Given the description of an element on the screen output the (x, y) to click on. 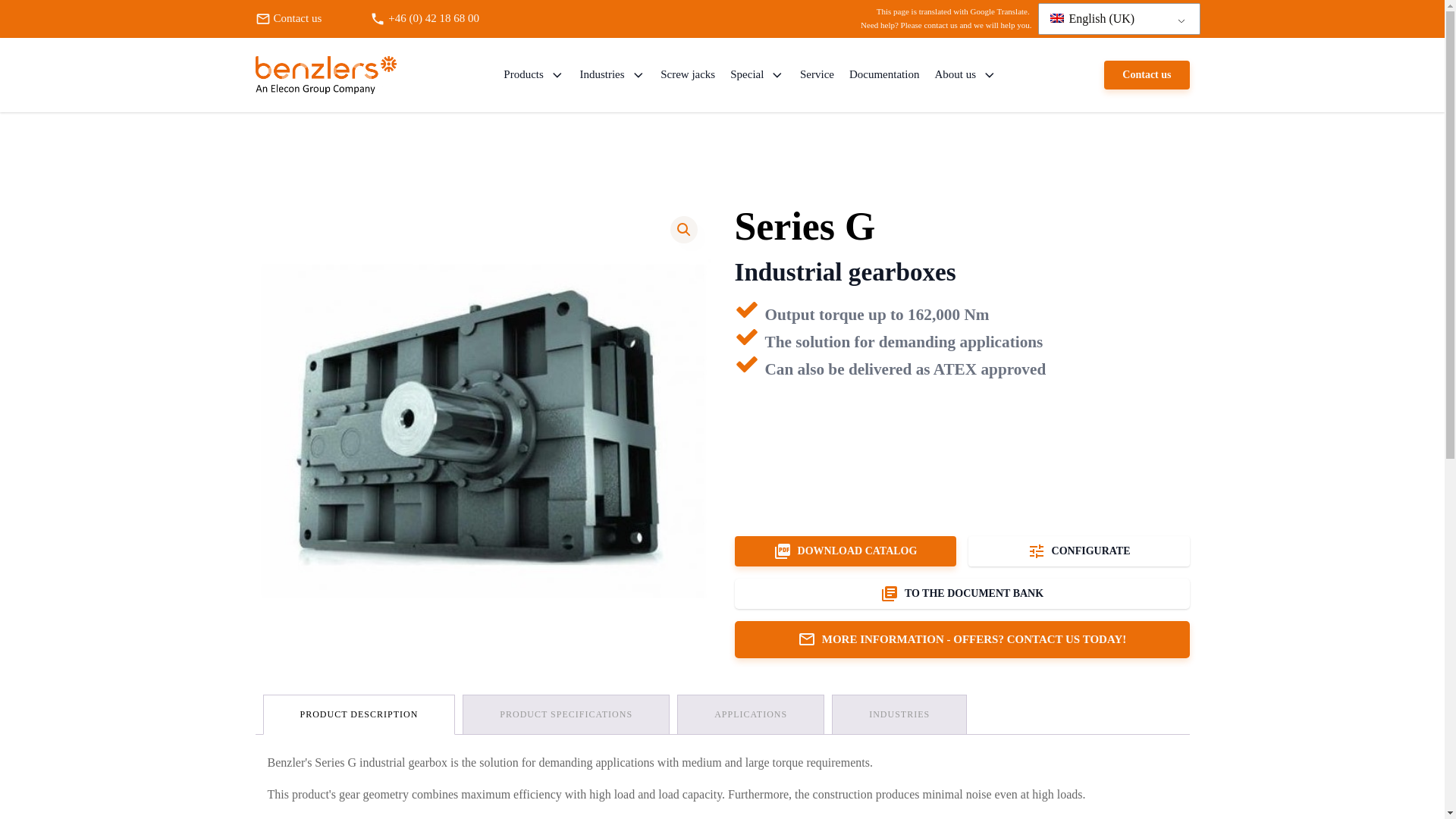
Products (533, 74)
Contact us (309, 18)
Industries (612, 74)
